Given the description of an element on the screen output the (x, y) to click on. 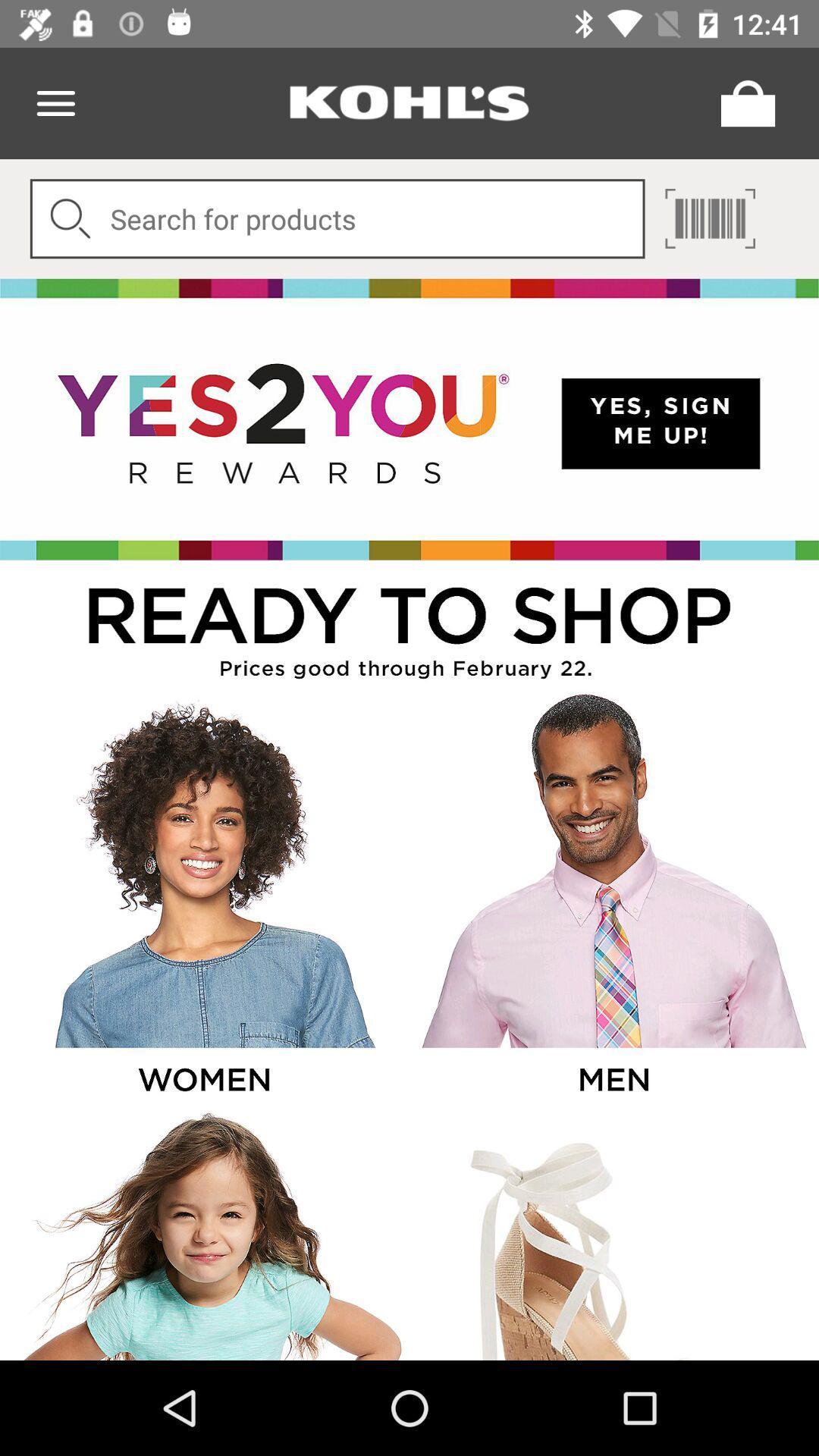
shoes products link (613, 1234)
